Given the description of an element on the screen output the (x, y) to click on. 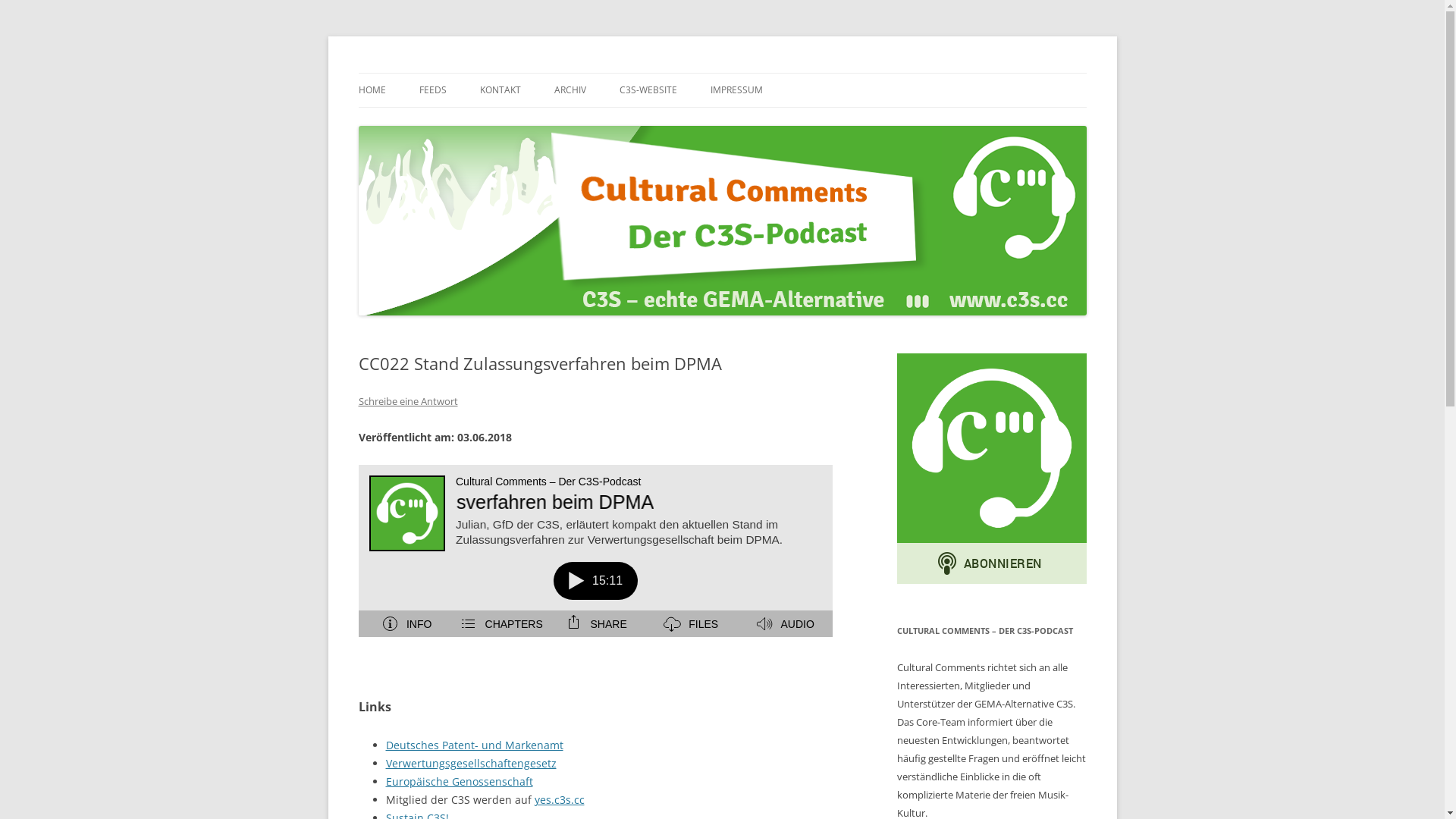
HOME Element type: text (371, 89)
IMPRESSUM Element type: text (735, 89)
FEEDS Element type: text (431, 89)
yes.c3s.cc Element type: text (558, 799)
KONTAKT Element type: text (499, 89)
Cultural Comments Element type: text (453, 72)
Zum Inhalt springen Element type: text (721, 72)
C3S-WEBSITE Element type: text (647, 89)
ARCHIV Element type: text (569, 89)
Deutsches Patent- und Markenamt Element type: text (473, 744)
Schreibe eine Antwort Element type: text (407, 400)
Verwertungsgesellschaftengesetz Element type: text (470, 763)
